Given the description of an element on the screen output the (x, y) to click on. 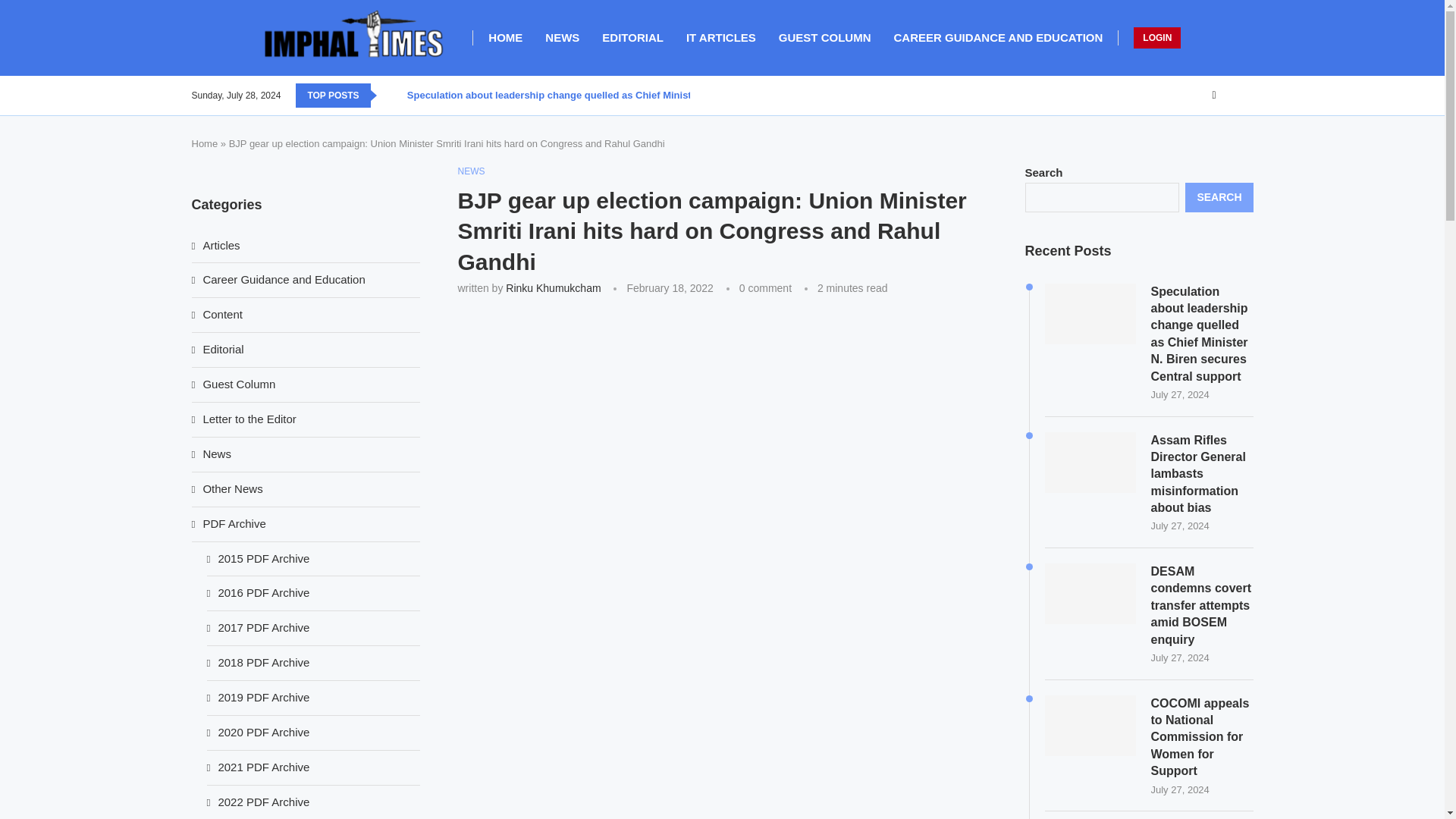
GUEST COLUMN (824, 37)
IT ARTICLES (720, 37)
EDITORIAL (632, 37)
LOGIN (1157, 37)
CAREER GUIDANCE AND EDUCATION (997, 37)
